Given the description of an element on the screen output the (x, y) to click on. 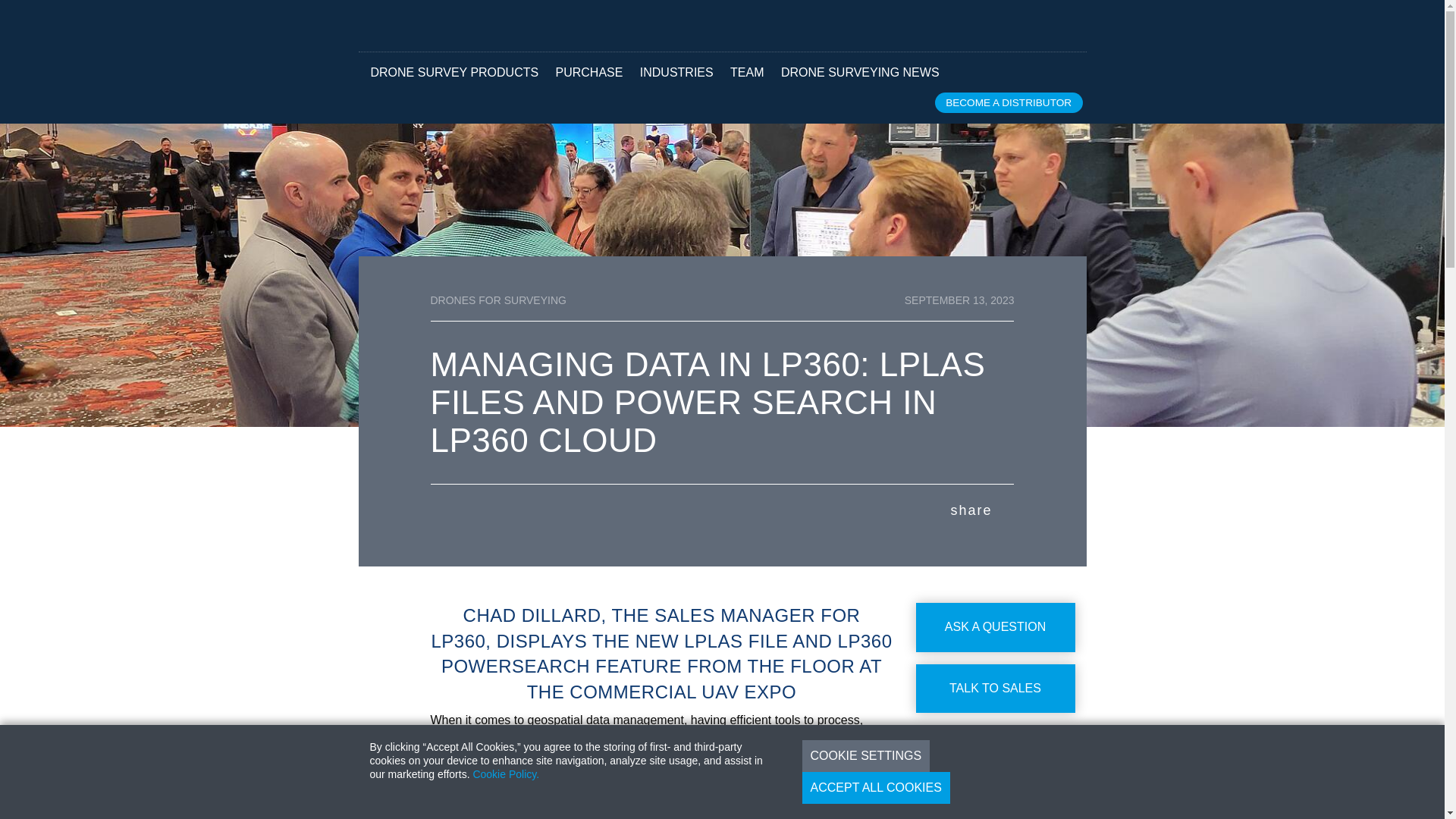
Search (1049, 28)
Microdrones (437, 25)
DRONE SURVEY PRODUCTS (454, 72)
PURCHASE (588, 72)
INDUSTRIES (676, 72)
